Given the description of an element on the screen output the (x, y) to click on. 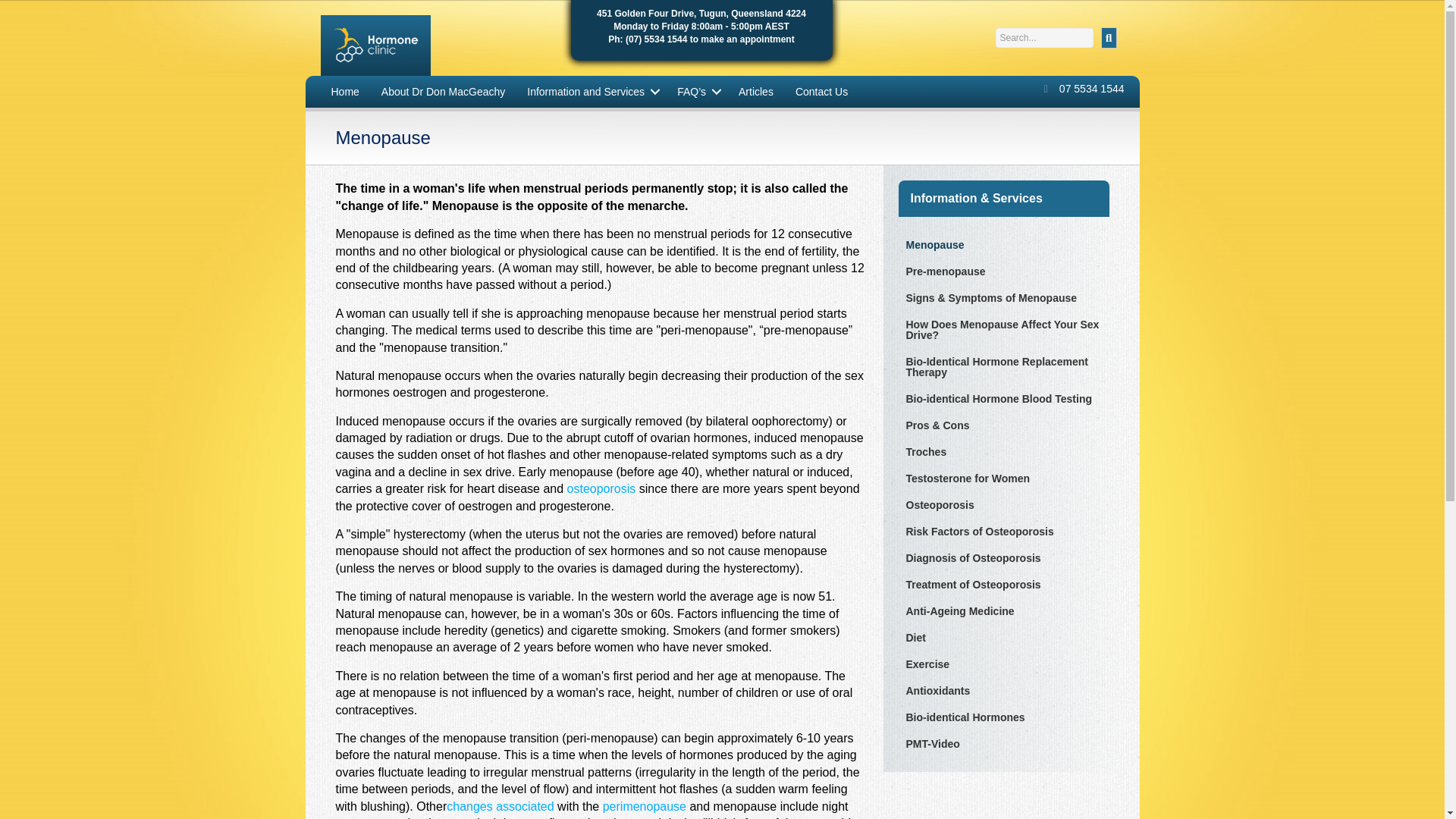
Home (344, 91)
About Dr Don MacGeachy (443, 91)
logo (375, 45)
Information and Services (590, 91)
osteoporosis (601, 488)
Menopause (1003, 244)
07 5534 1544 (1091, 89)
Articles (756, 91)
changes associated (499, 805)
Pre-menopause (1003, 271)
Contact Us (821, 91)
perimenopause (643, 805)
